Given the description of an element on the screen output the (x, y) to click on. 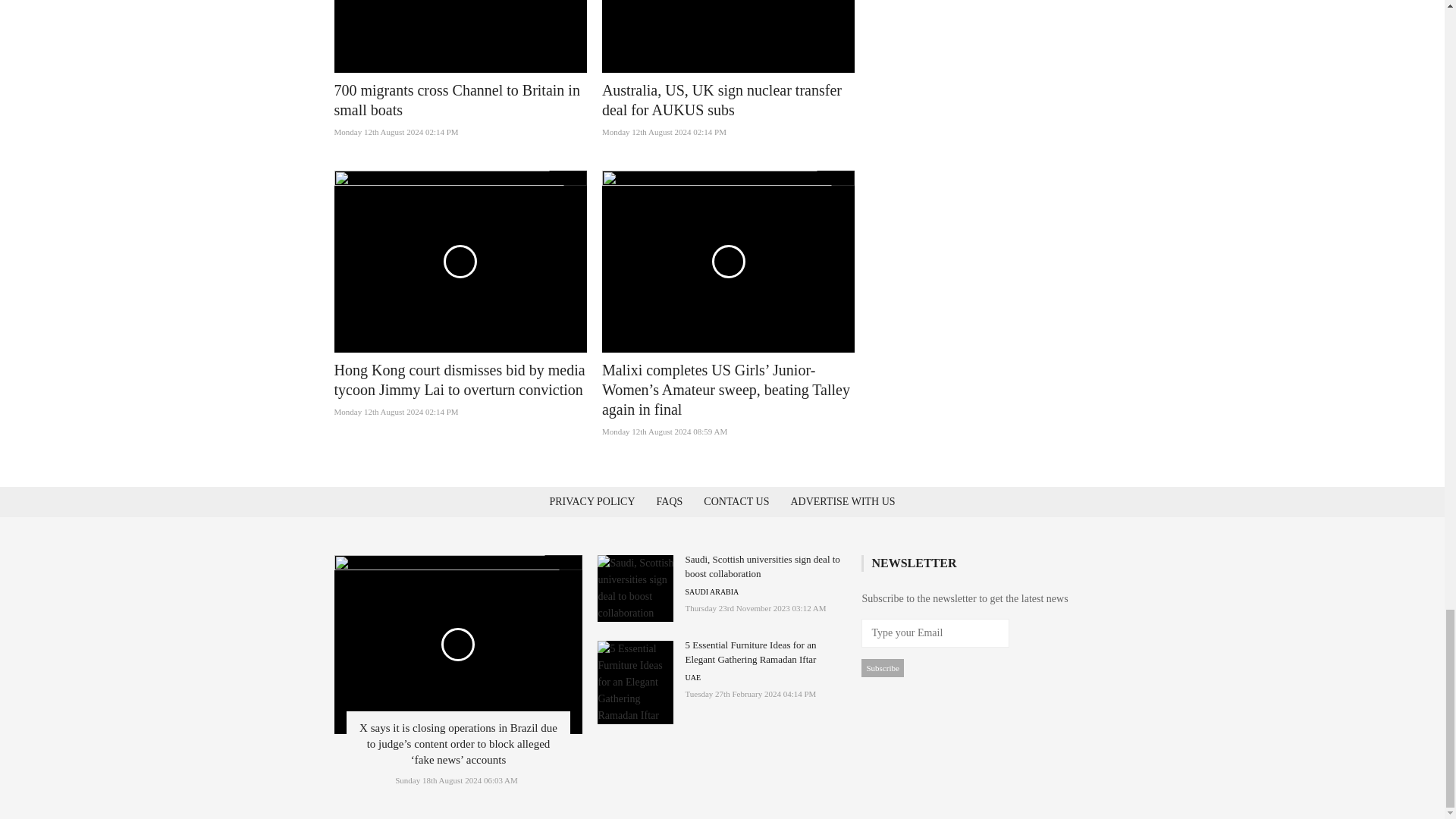
Australia, US, UK sign nuclear transfer deal for AUKUS subs (721, 99)
700 migrants cross Channel to Britain in small boats (456, 99)
Subscribe (881, 668)
